Given the description of an element on the screen output the (x, y) to click on. 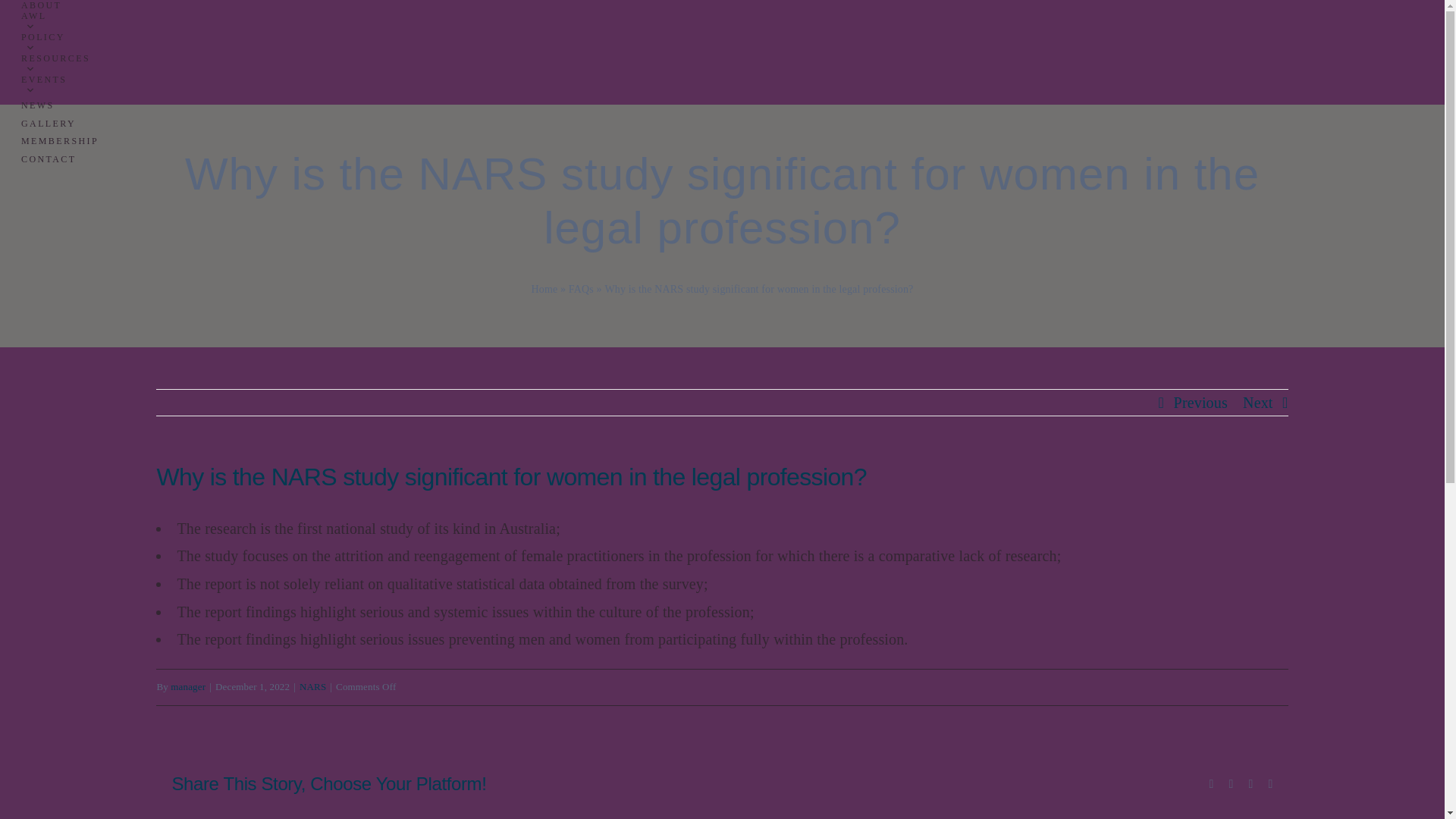
Posts by manager (187, 686)
